Given the description of an element on the screen output the (x, y) to click on. 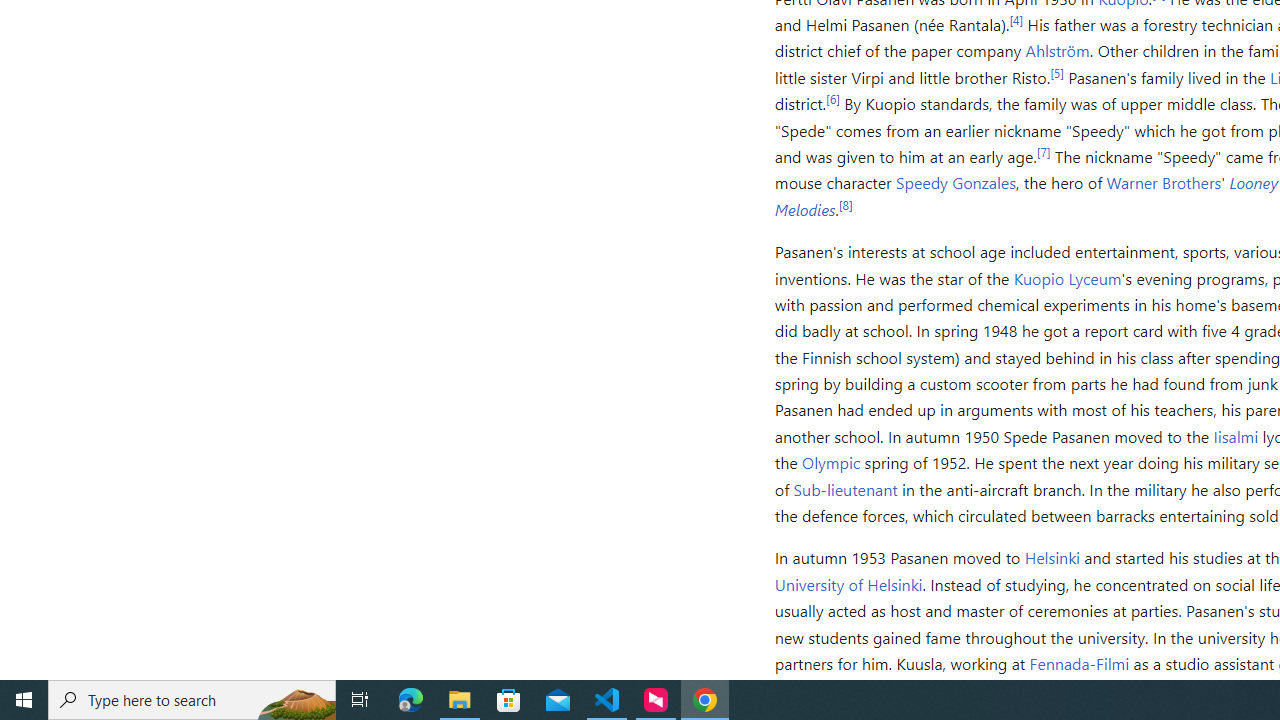
Speedy Gonzales (956, 182)
[6] (832, 98)
[7] (1042, 151)
Kuopio Lyceum (1067, 277)
Helsinki (1052, 557)
Olympic (831, 462)
[9] (1051, 685)
[8] (845, 204)
[4] (1016, 19)
Iisalmi (1236, 435)
University of Helsinki (848, 583)
Fennada-Filmi (1079, 662)
Warner Brothers (1163, 182)
[5] (1056, 72)
